Given the description of an element on the screen output the (x, y) to click on. 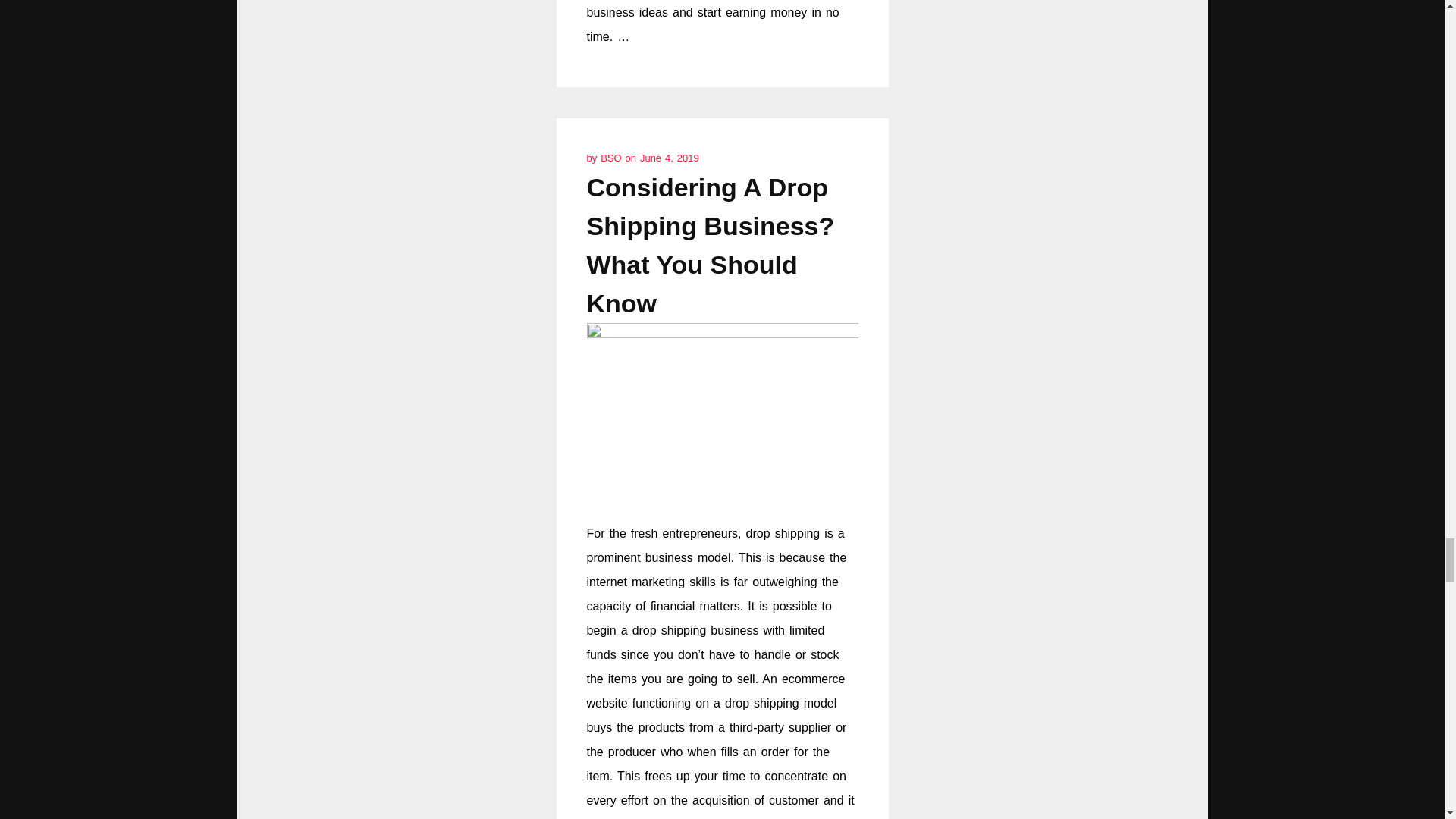
Considering A Drop Shipping Business? What You Should Know (710, 244)
BSO (611, 157)
Considering A Drop Shipping Business? What You Should Know (710, 244)
